Given the description of an element on the screen output the (x, y) to click on. 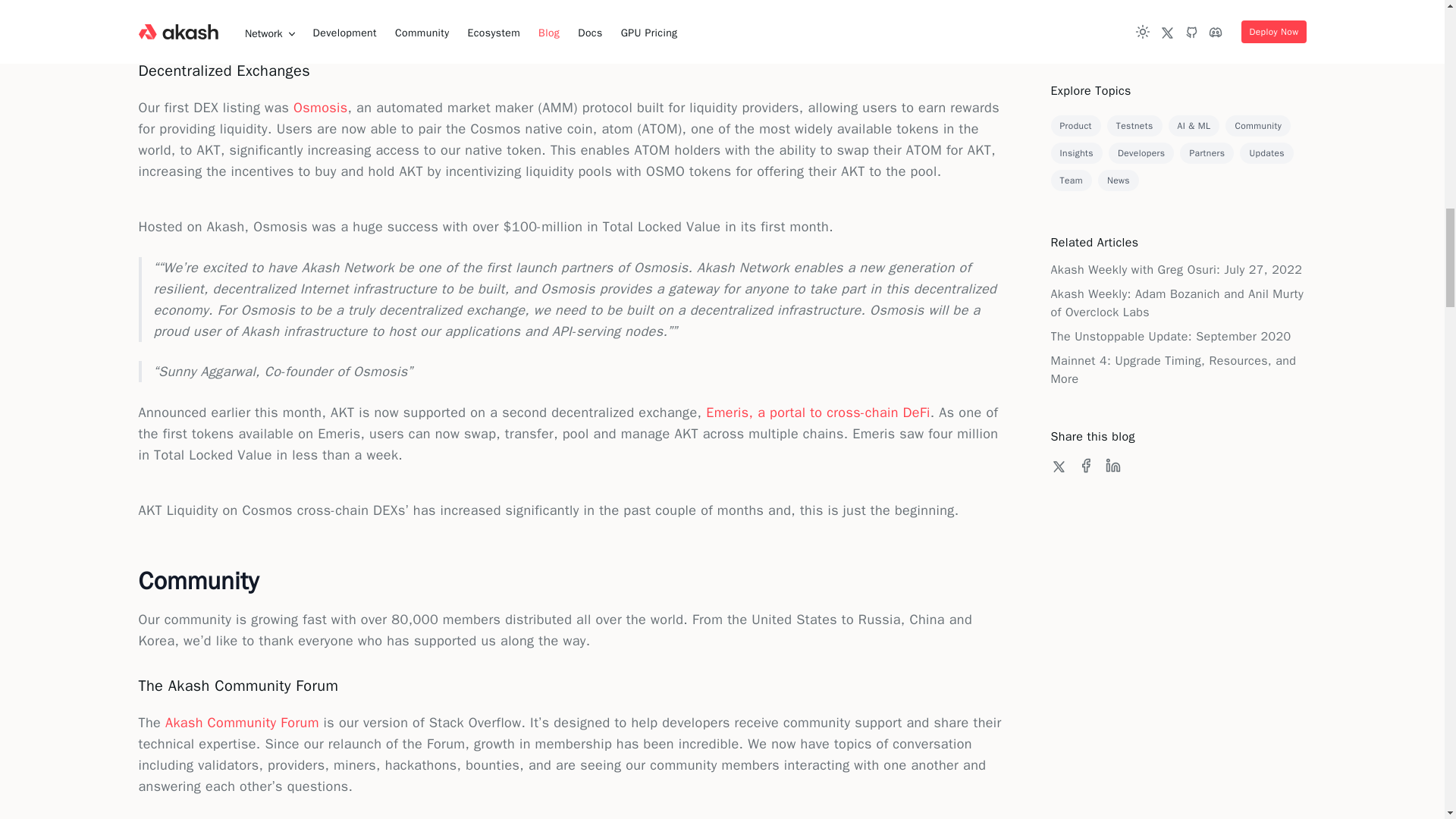
Akash Community Forum (241, 722)
Emeris, a portal to cross-chain DeFi (818, 412)
Osmosis (320, 107)
